Given the description of an element on the screen output the (x, y) to click on. 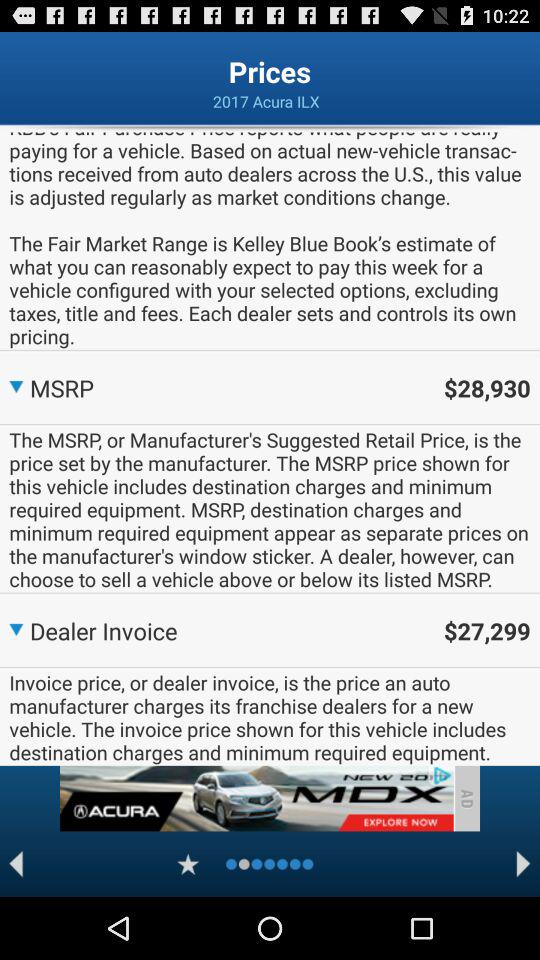
clickable advertisement (256, 798)
